Given the description of an element on the screen output the (x, y) to click on. 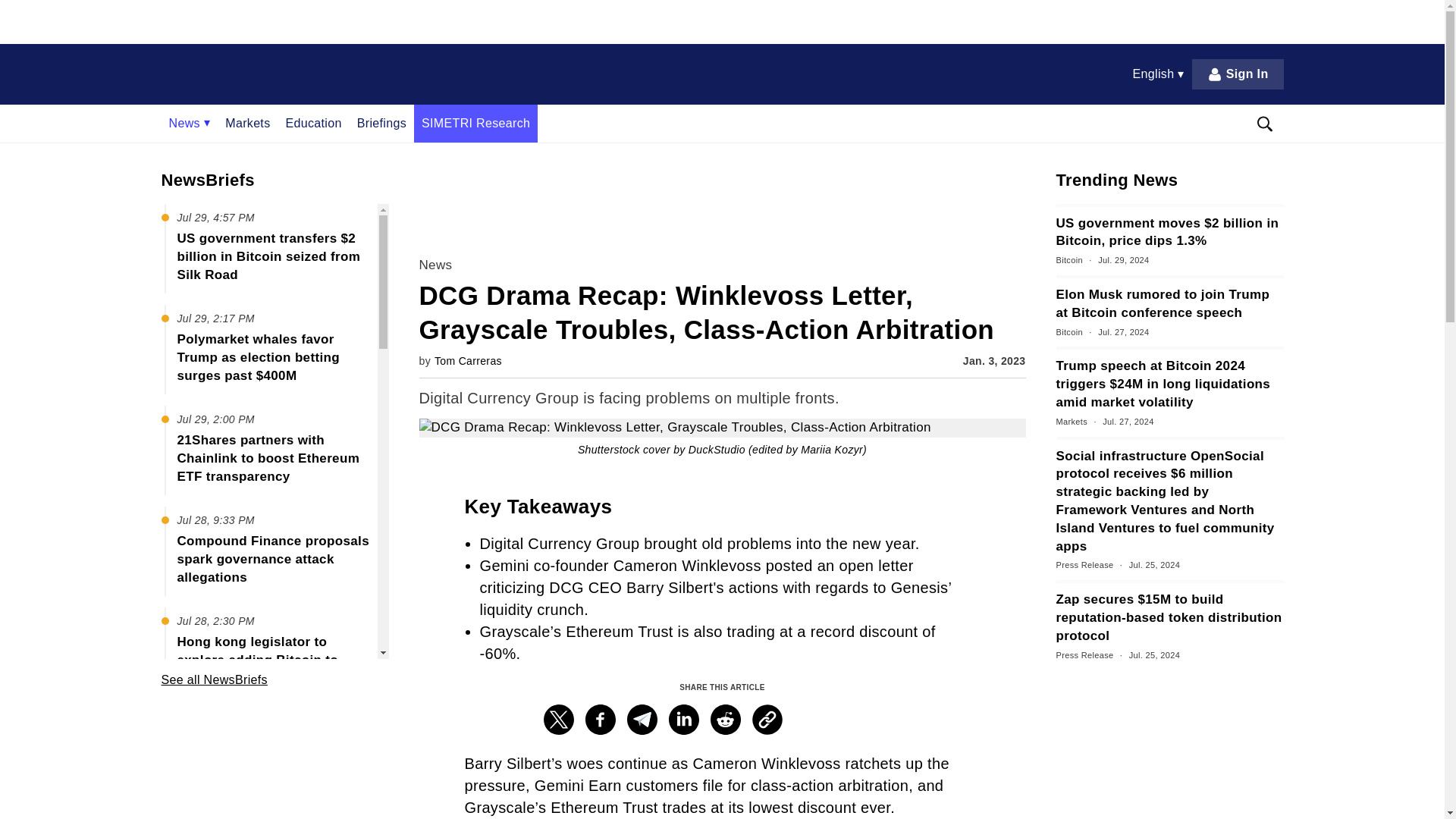
gemini-cover (722, 427)
Sign In (1238, 73)
Sign In (1238, 73)
News (188, 123)
